Given the description of an element on the screen output the (x, y) to click on. 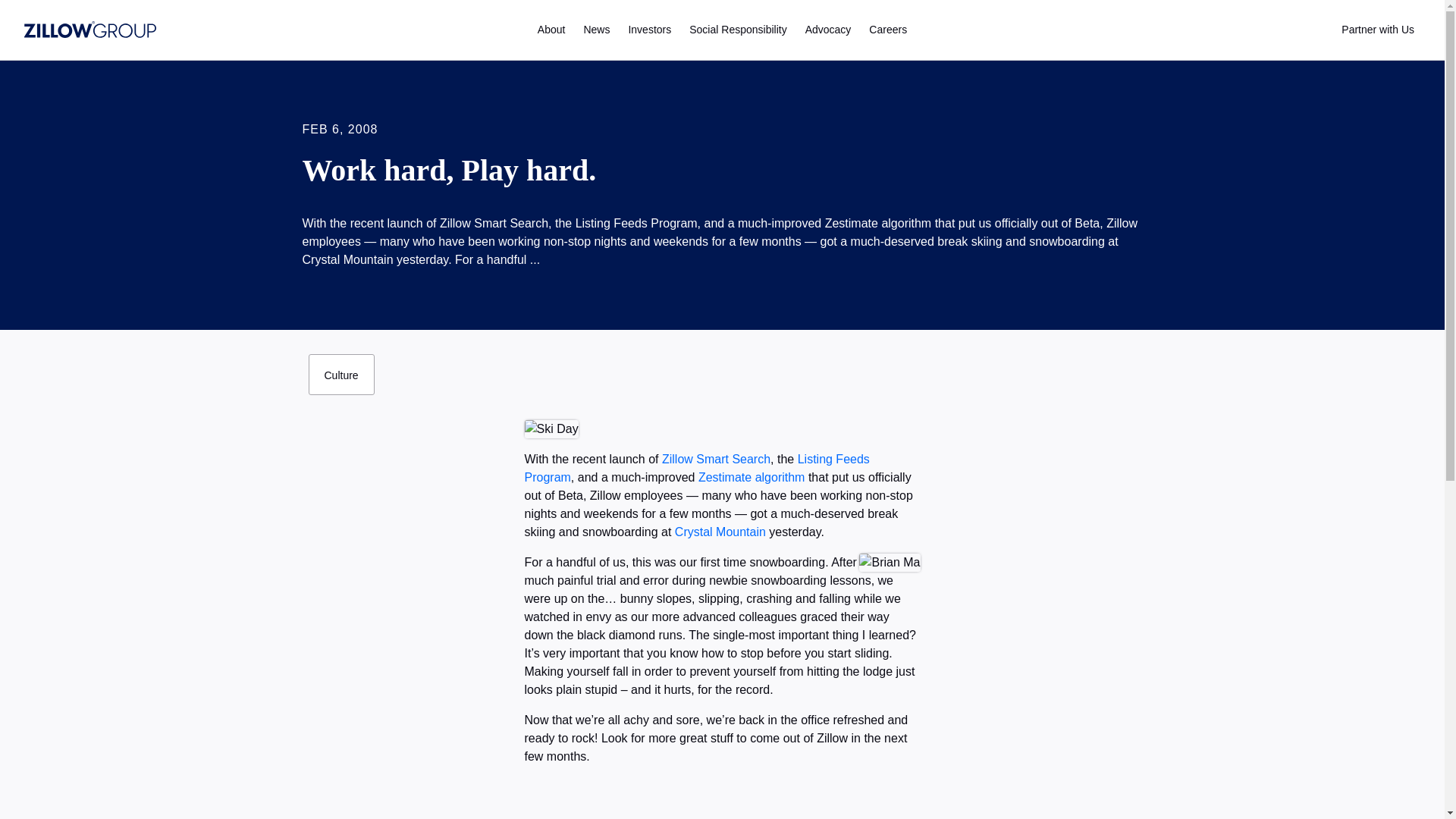
Culture (340, 373)
Social Responsibility (737, 29)
Zestimate algorithm (751, 477)
Investors (649, 29)
Social Responsibility (737, 29)
Zillow Smart Search (716, 459)
Listing Feeds Program (696, 468)
Investors (649, 29)
Advocacy (828, 29)
Partner with Us (1378, 29)
